Given the description of an element on the screen output the (x, y) to click on. 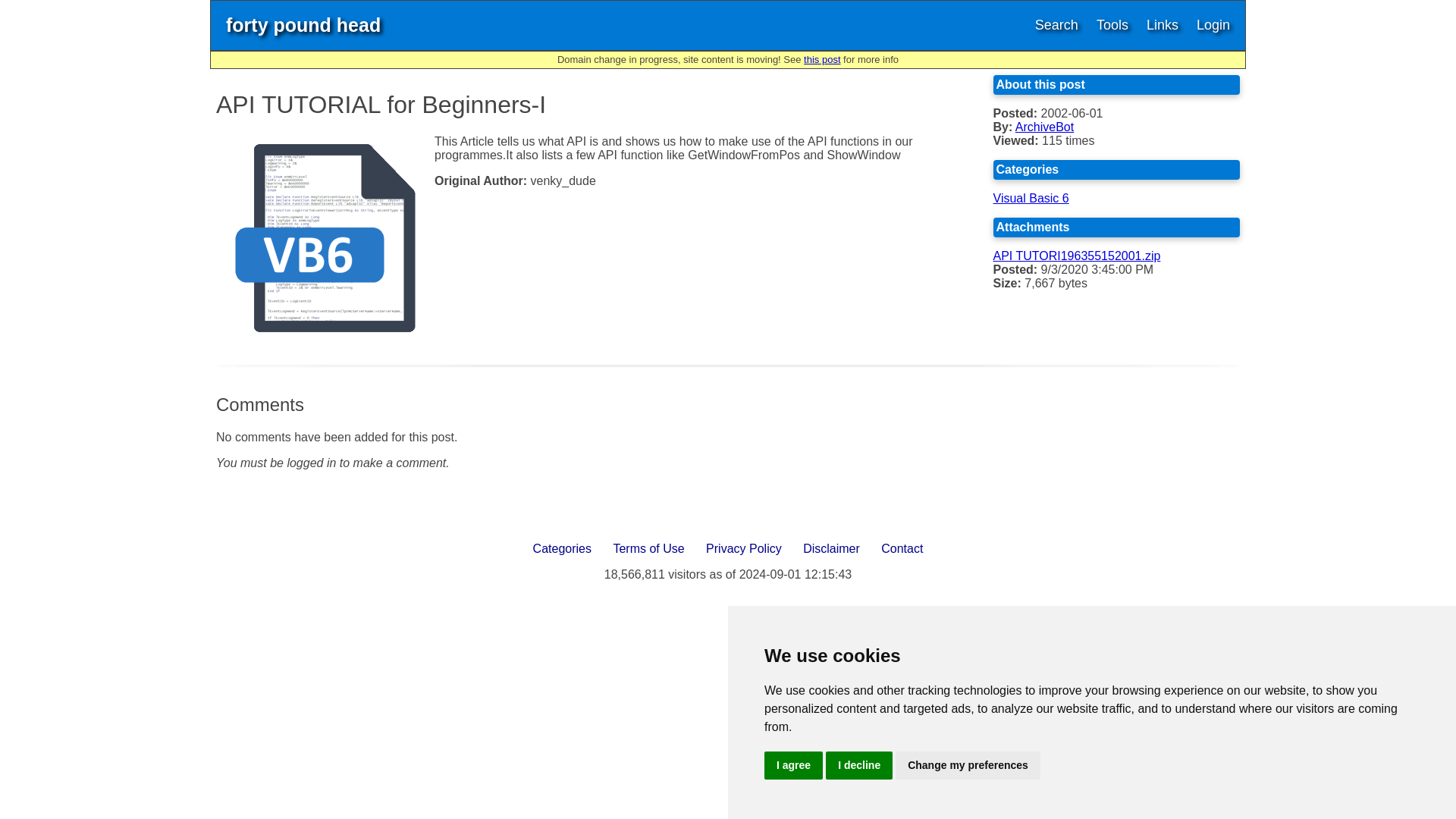
forty pound head (303, 25)
Visual Basic 6, or VB Classic (325, 237)
this post (821, 59)
Categories (561, 547)
Terms of Use (648, 547)
Privacy Policy (743, 547)
Disclaimer (831, 547)
Contact (901, 547)
